Given the description of an element on the screen output the (x, y) to click on. 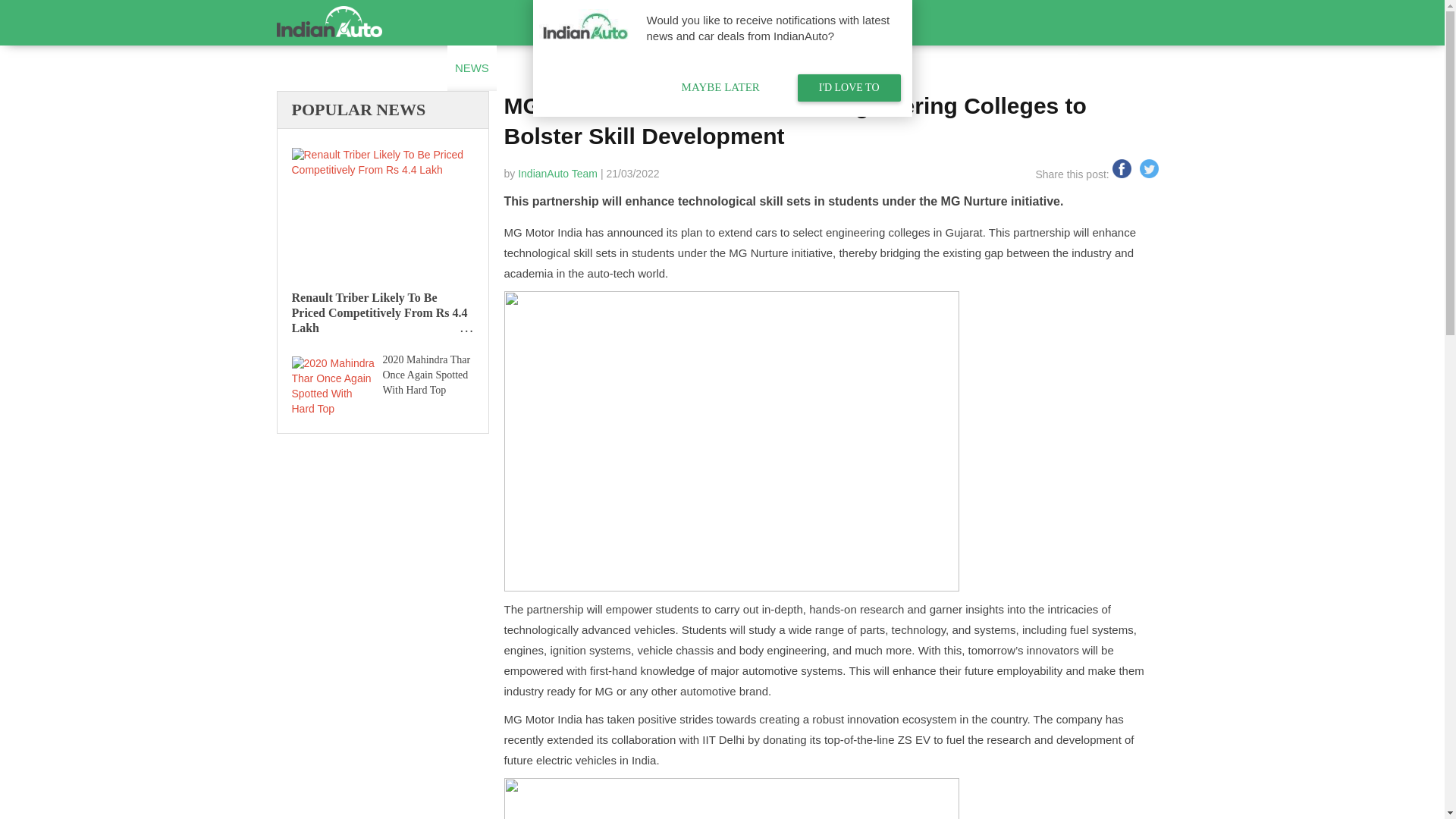
FEATURED (608, 67)
SUV CARS (532, 67)
USED CARS (330, 67)
2020 Mahindra Thar Once Again Spotted With Hard Top (424, 374)
NEW CARS (408, 67)
2020 Mahindra Thar Once Again Spotted With Hard Top (332, 384)
